Given the description of an element on the screen output the (x, y) to click on. 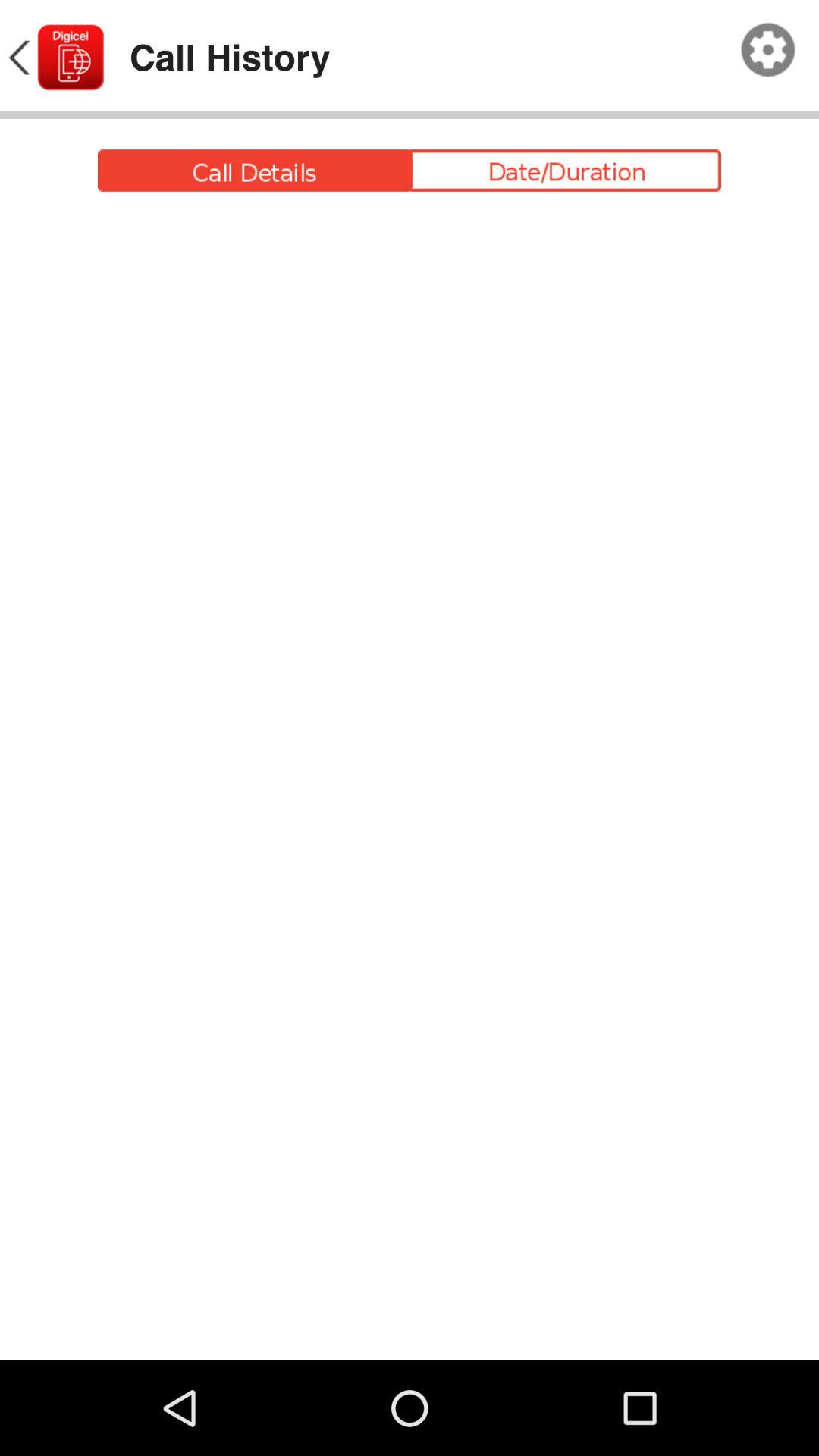
launch the item next to call history app (768, 49)
